Given the description of an element on the screen output the (x, y) to click on. 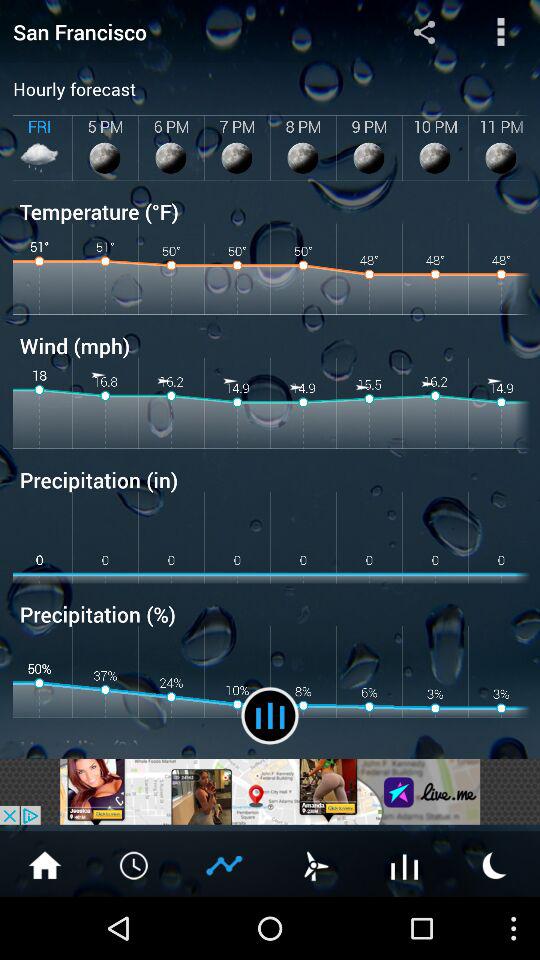
turn on san francisco (179, 31)
